Given the description of an element on the screen output the (x, y) to click on. 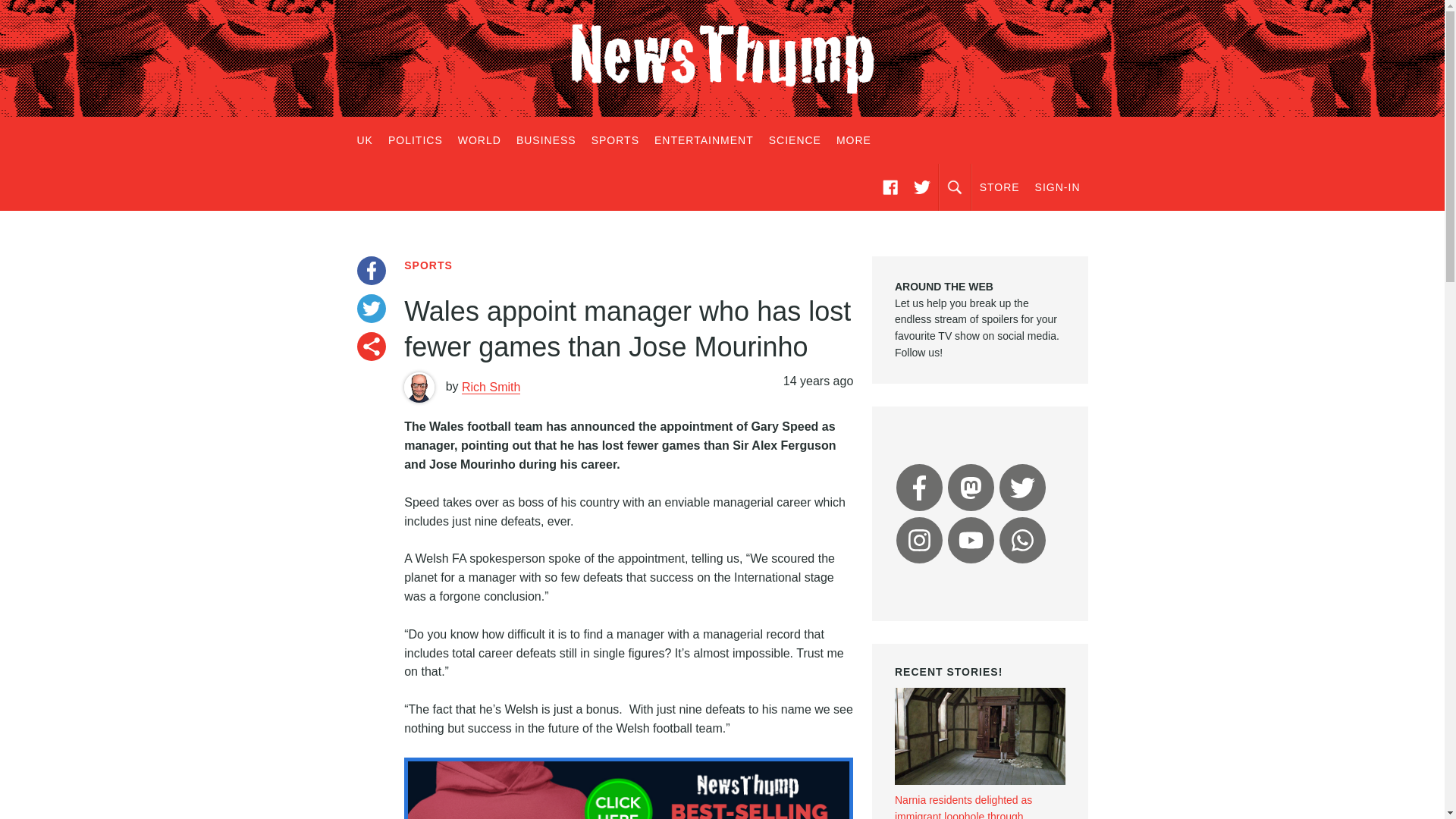
NewsThump (721, 58)
SIGN-IN (1057, 186)
SPORTS (428, 265)
SPORTS (614, 140)
WORLD (478, 140)
TWITTER (921, 186)
SCIENCE (794, 140)
POLITICS (414, 140)
BUSINESS (545, 140)
Share on Twitter (370, 308)
SEARCH (955, 186)
MORE (853, 140)
STORE (999, 186)
Rich Smith (490, 386)
FACEBOOK (890, 186)
